Given the description of an element on the screen output the (x, y) to click on. 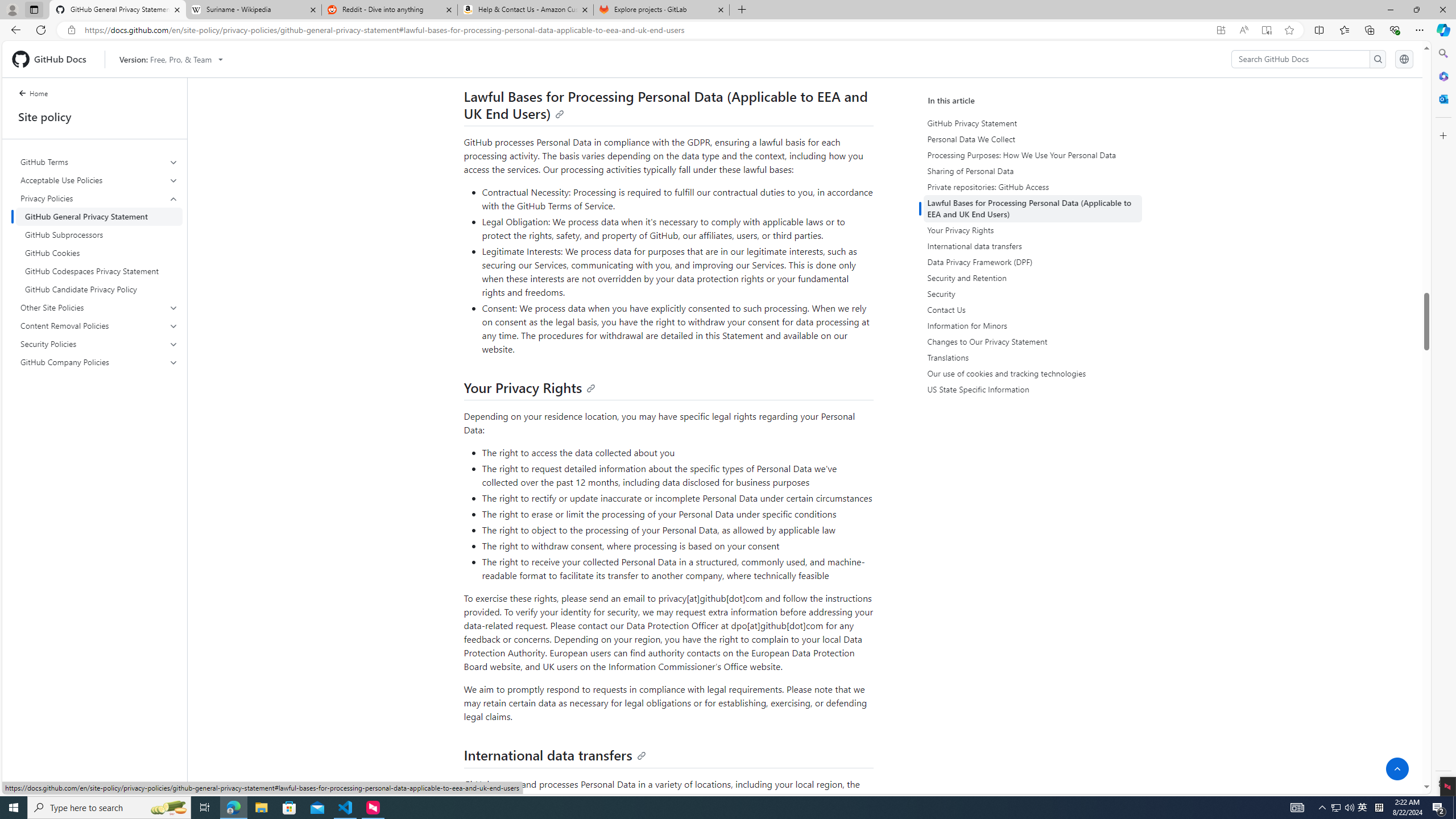
GitHub Subprocessors (99, 235)
Information for Minors (1032, 325)
GitHub Subprocessors (99, 235)
Search GitHub Docs (1300, 58)
Content Removal Policies (99, 325)
Our use of cookies and tracking technologies (1034, 373)
GitHub Company Policies (99, 361)
Security and Retention (1032, 277)
Changes to Our Privacy Statement (1032, 341)
Processing Purposes: How We Use Your Personal Data (1034, 154)
